Given the description of an element on the screen output the (x, y) to click on. 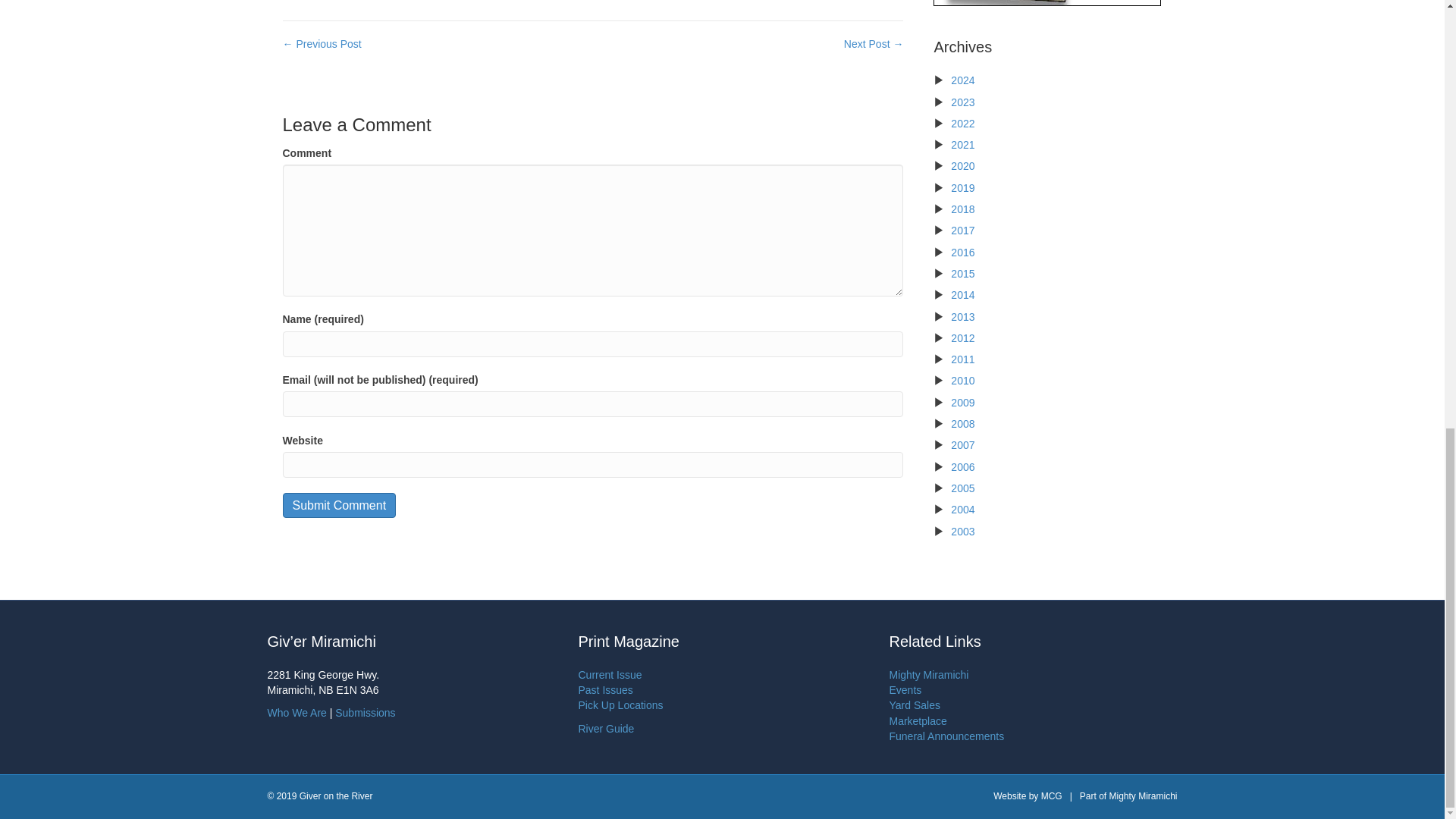
Submit Comment (339, 505)
